Given the description of an element on the screen output the (x, y) to click on. 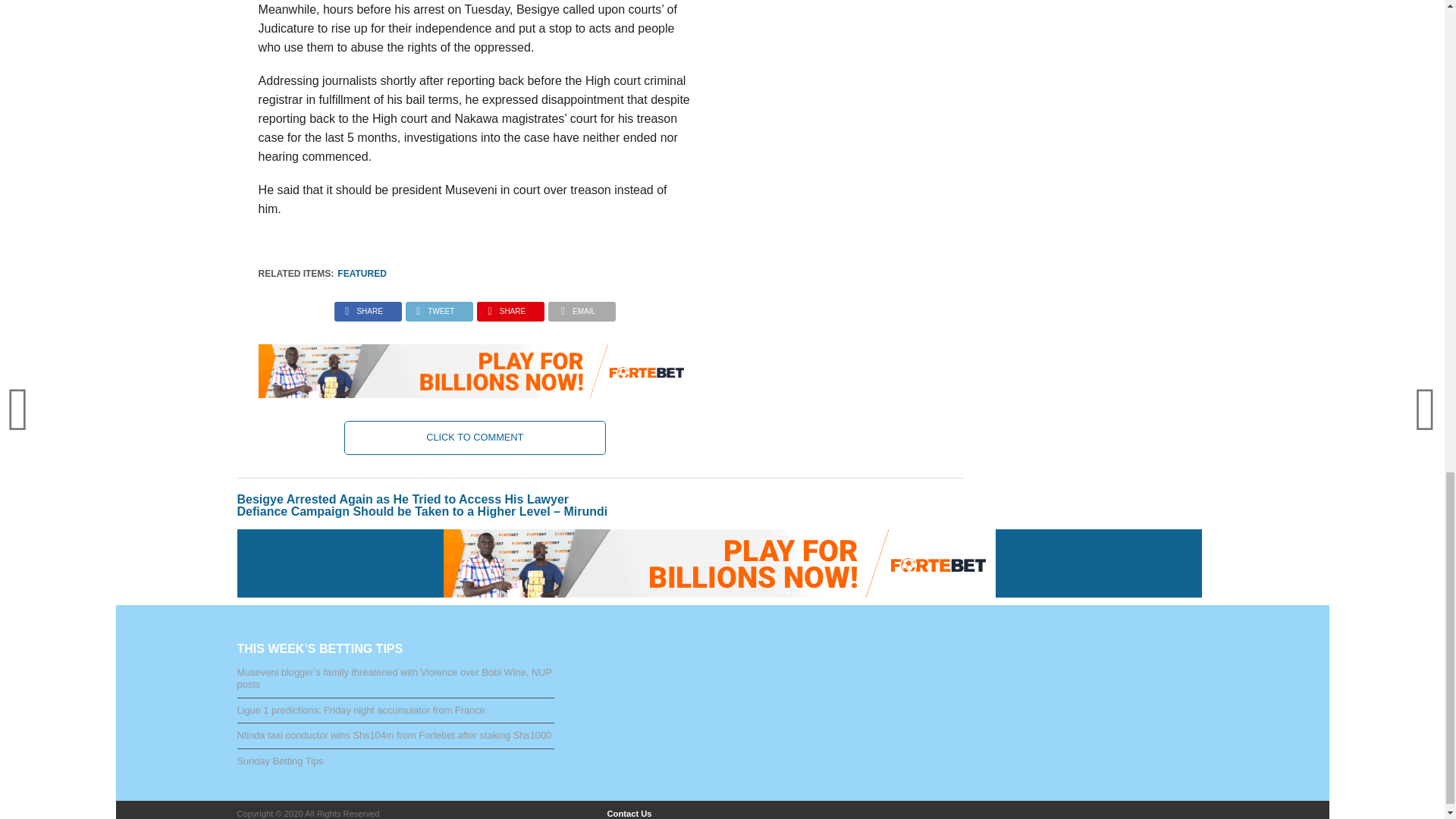
Share on Facebook (367, 307)
Pin This Post (510, 307)
Tweet This Post (438, 307)
